Given the description of an element on the screen output the (x, y) to click on. 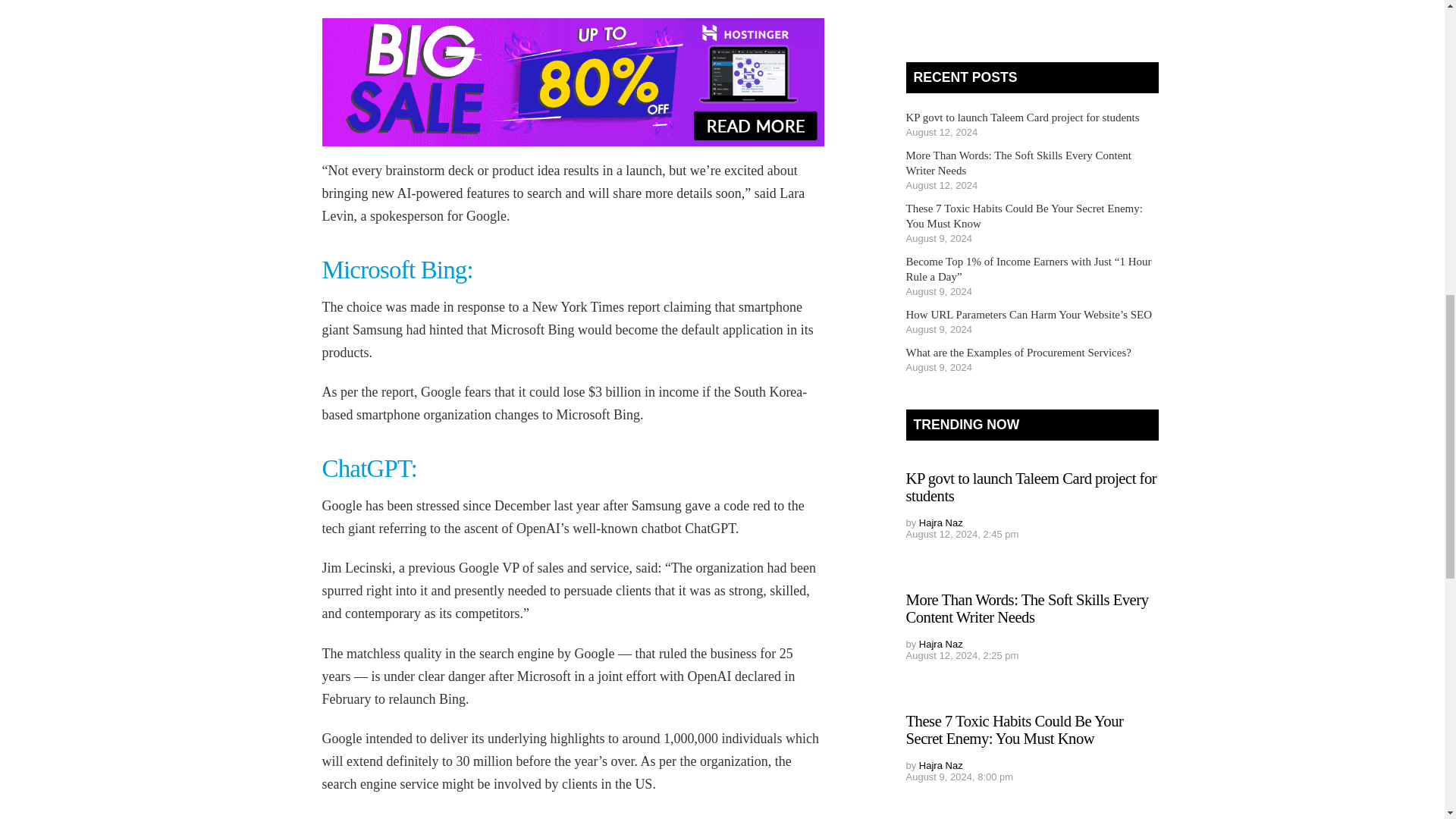
Posts by Hajra Naz (940, 522)
Bing (396, 269)
Posts by Hajra Naz (940, 644)
Posts by Hajra Naz (940, 765)
Unlocking the Power of ChatGPT: 12 Hacks You Need to Know (368, 468)
Want a Free Website (572, 82)
